Given the description of an element on the screen output the (x, y) to click on. 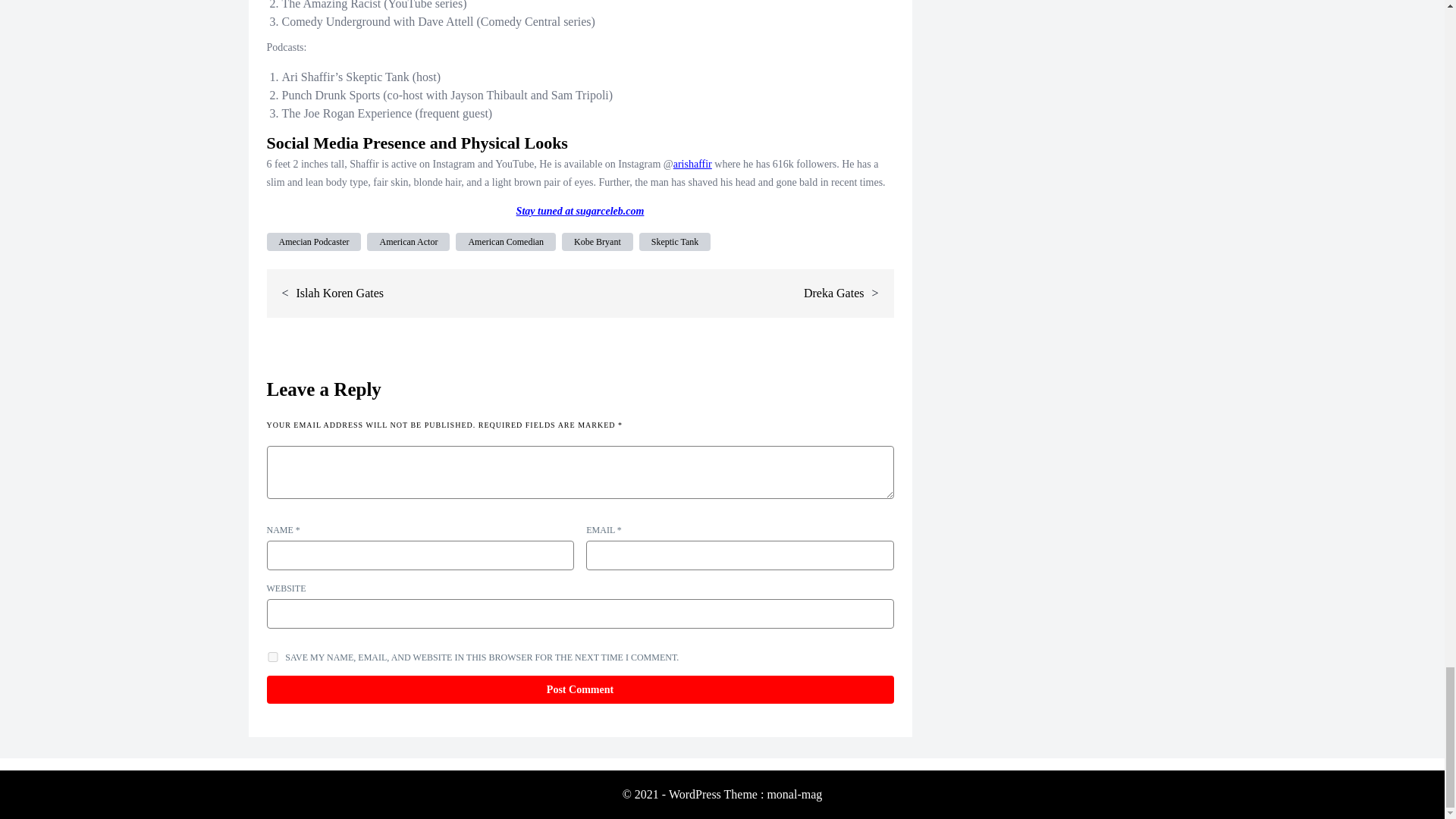
yes (272, 656)
Dreka Gates (833, 292)
Kobe Bryant (597, 241)
Skeptic Tank (675, 241)
American Actor (407, 241)
Amecian Podcaster (313, 241)
Stay tuned at sugarceleb.com (580, 211)
arishaffir (691, 163)
Islah Koren Gates (340, 292)
American Comedian (505, 241)
Post Comment (579, 689)
